Given the description of an element on the screen output the (x, y) to click on. 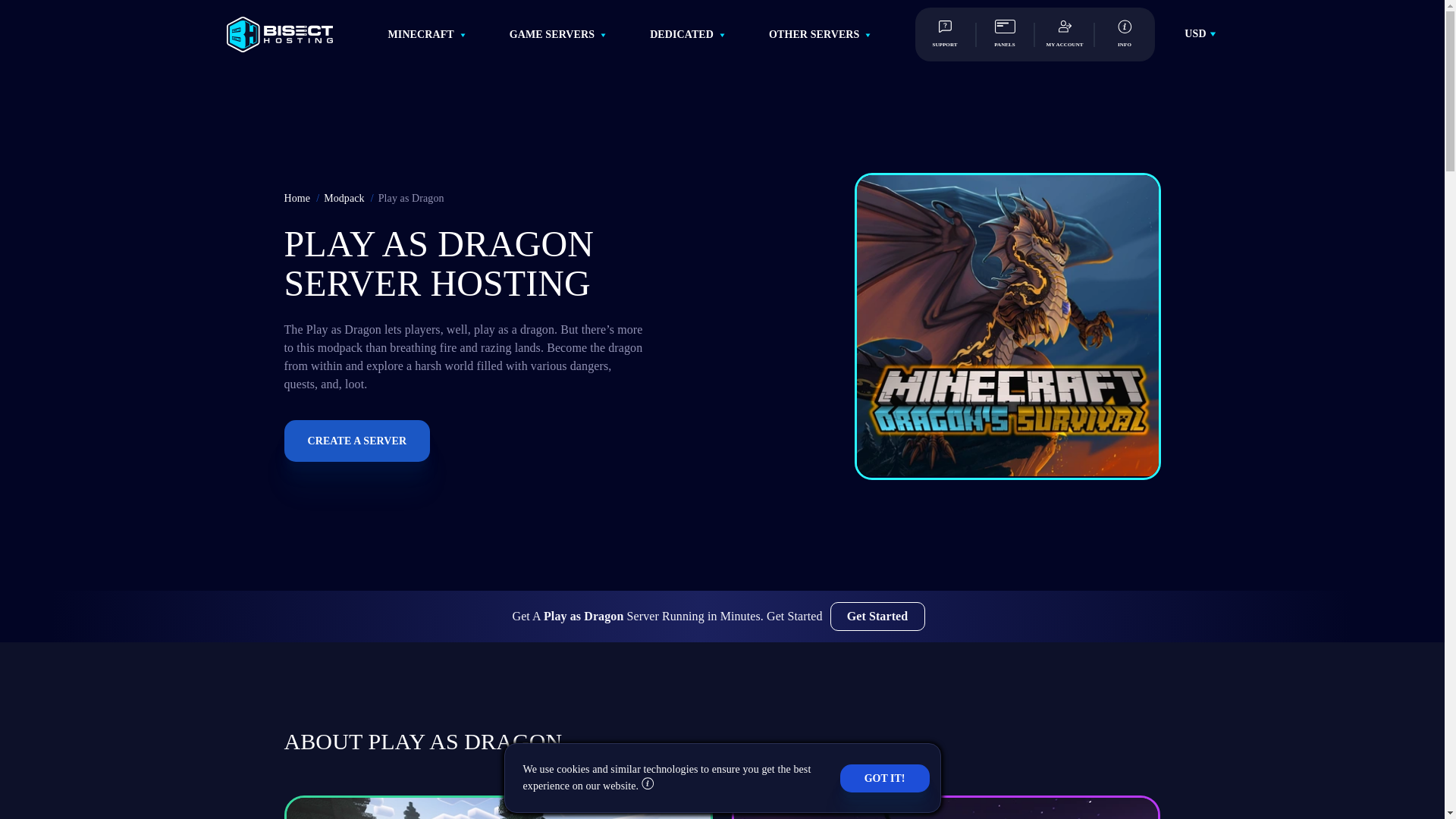
Play as Dragon (1007, 324)
MINECRAFT (421, 34)
Learn more (647, 785)
GAME SERVERS (551, 34)
